Given the description of an element on the screen output the (x, y) to click on. 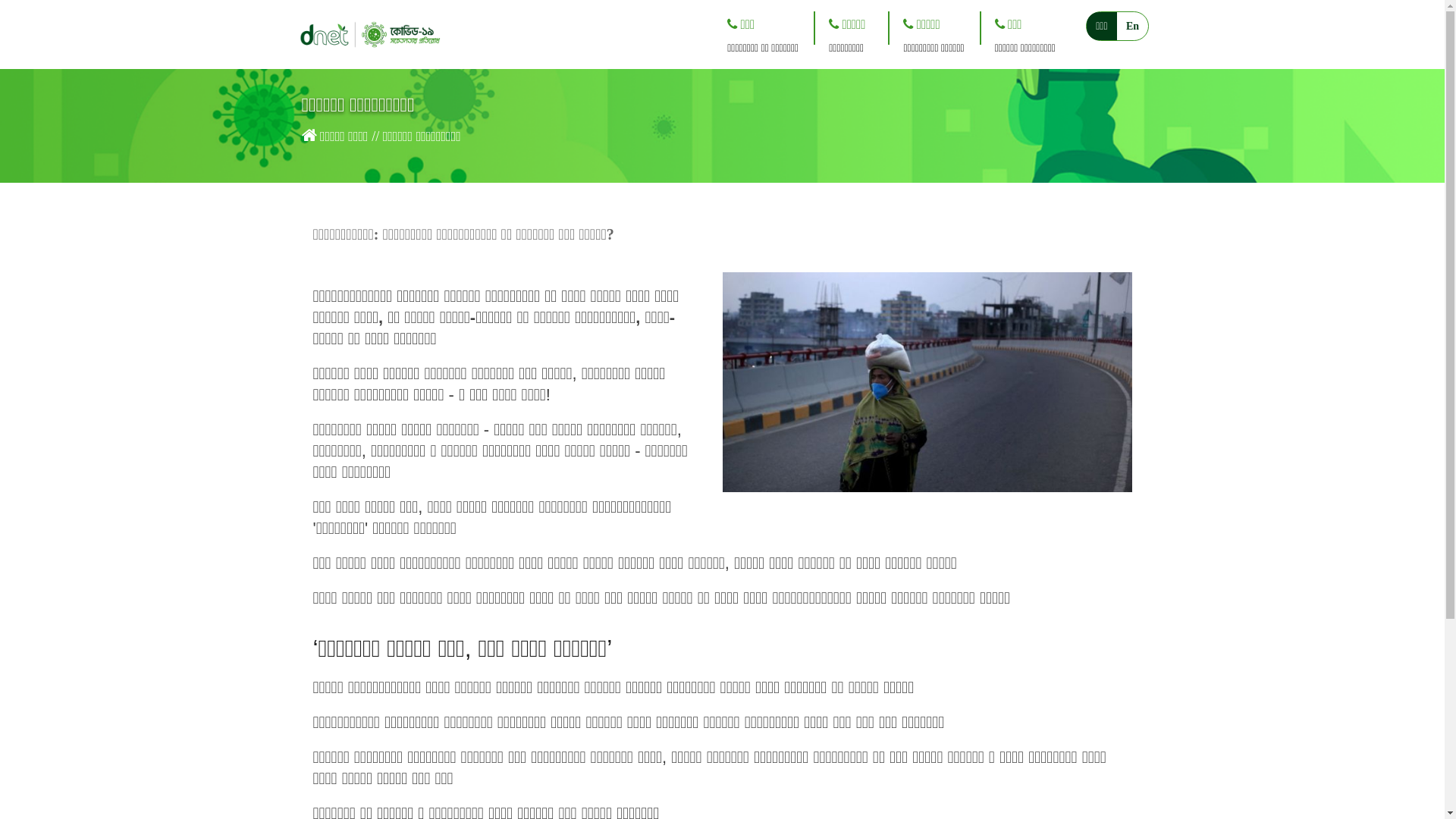
En Element type: text (1132, 26)
